Given the description of an element on the screen output the (x, y) to click on. 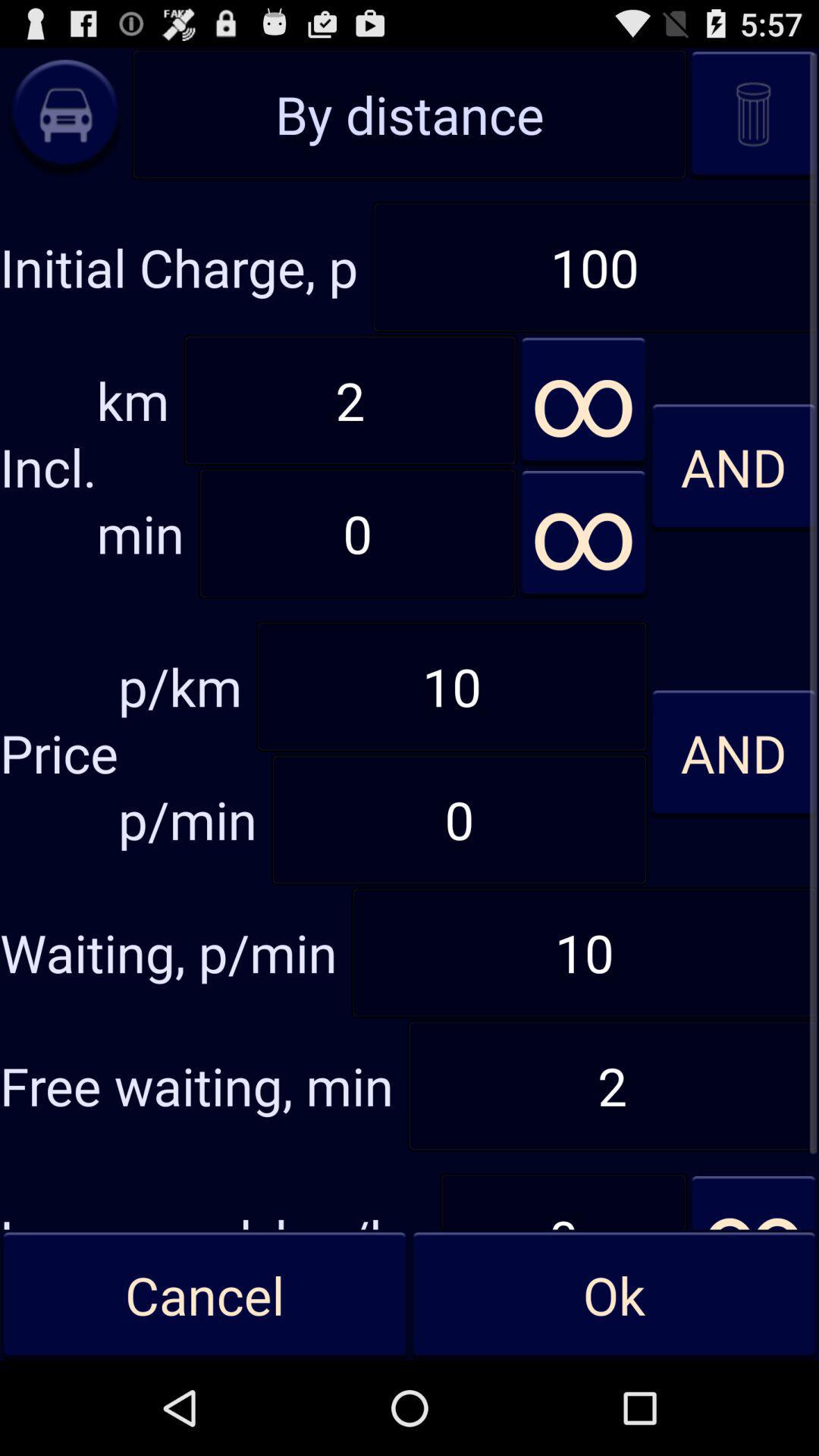
throw away (753, 113)
